Given the description of an element on the screen output the (x, y) to click on. 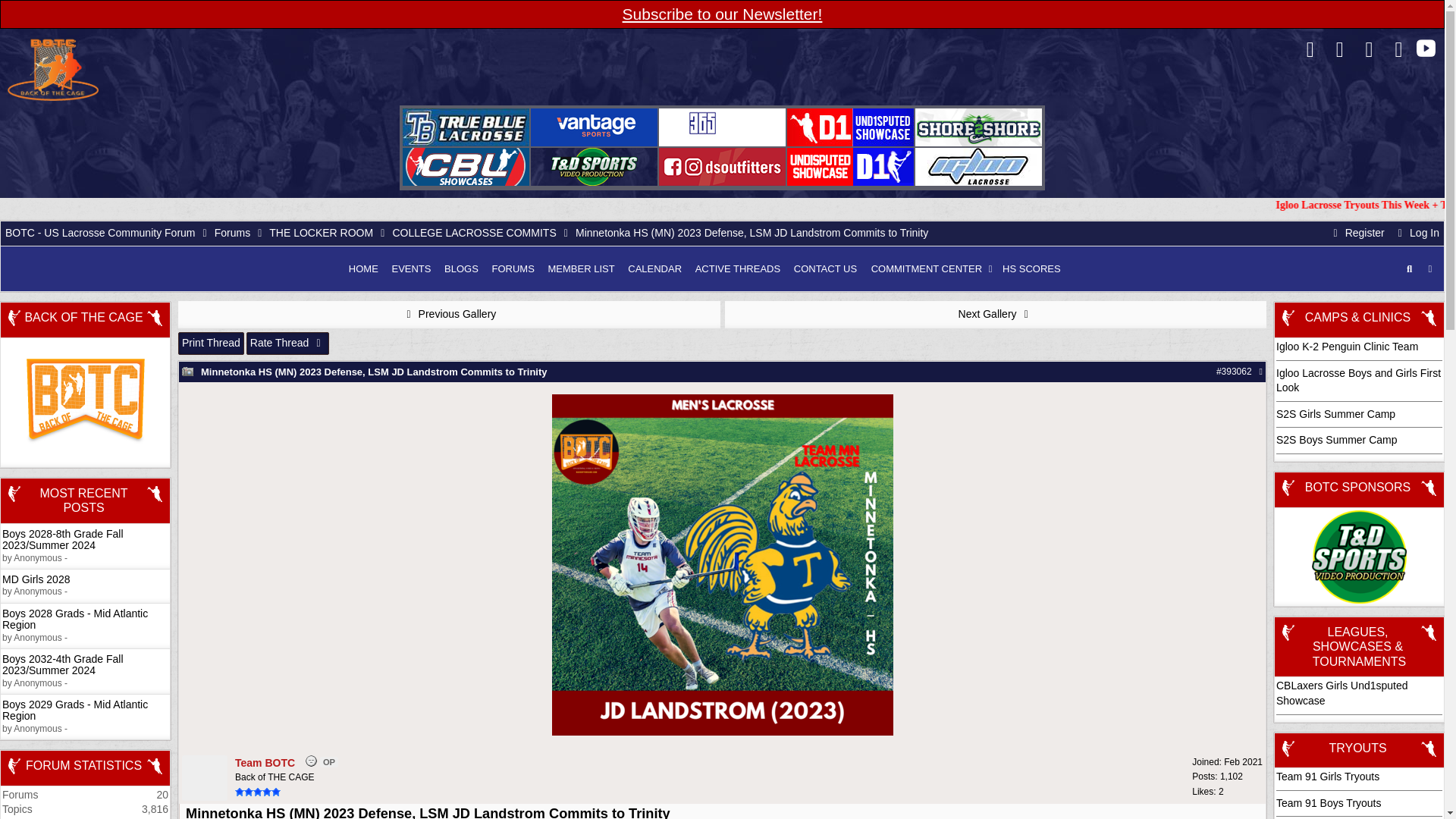
Visit us on Twitter! (1339, 52)
TD Sports (594, 166)
Shore 2 Shore Lacrosse (978, 127)
Visit us on Instagram! (1399, 52)
Subscribe to our Newsletter! (722, 13)
Girls UnD1sputed Showcase (850, 166)
365Lax (722, 127)
Igloo Lacrosse (978, 166)
Download our App on the Play Store! (1368, 52)
True Blue Lacrosse (466, 127)
CB Laxers (466, 166)
Vantage Sports (594, 127)
Downstream Outfitters (722, 166)
CB Laxers UnD1sputed Showcase (850, 127)
Visit us on Facebook! (1310, 52)
